Given the description of an element on the screen output the (x, y) to click on. 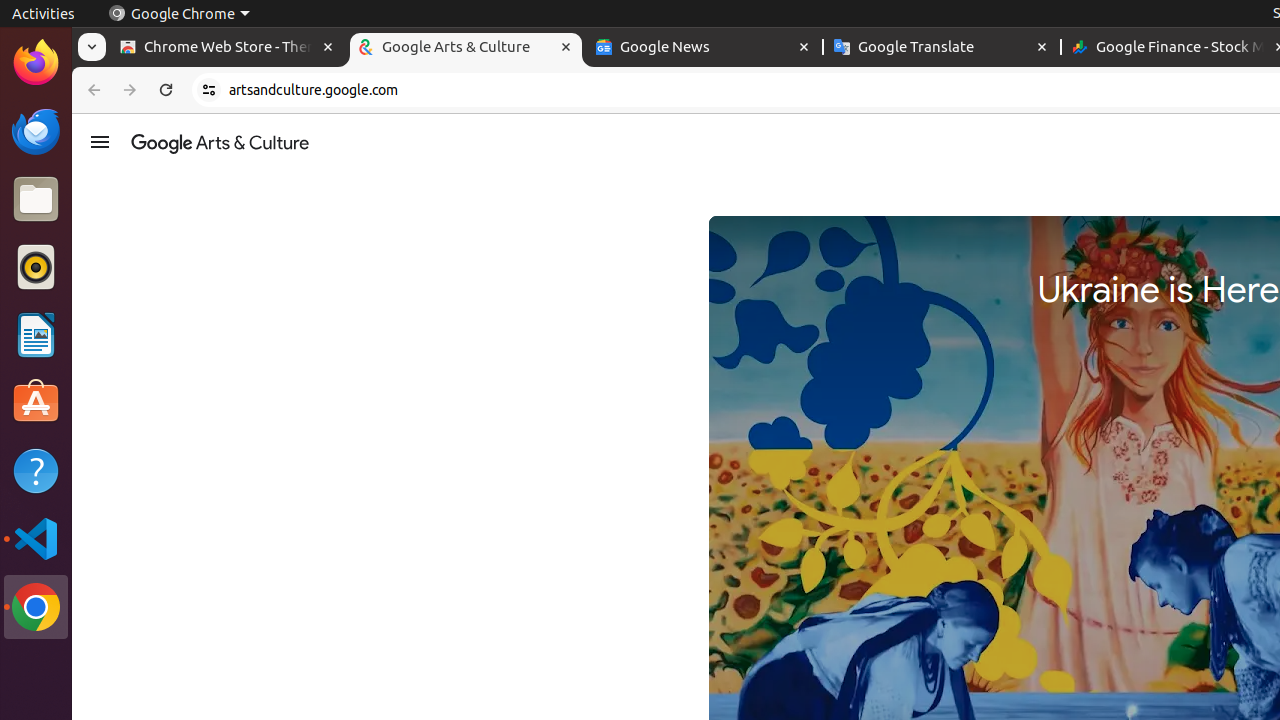
Thunderbird Mail Element type: push-button (36, 131)
Forward Element type: push-button (130, 90)
Google Arts & Culture Element type: page-tab (466, 47)
Google News - Memory usage - 62.7 MB Element type: page-tab (704, 47)
Reload Element type: push-button (166, 90)
